Given the description of an element on the screen output the (x, y) to click on. 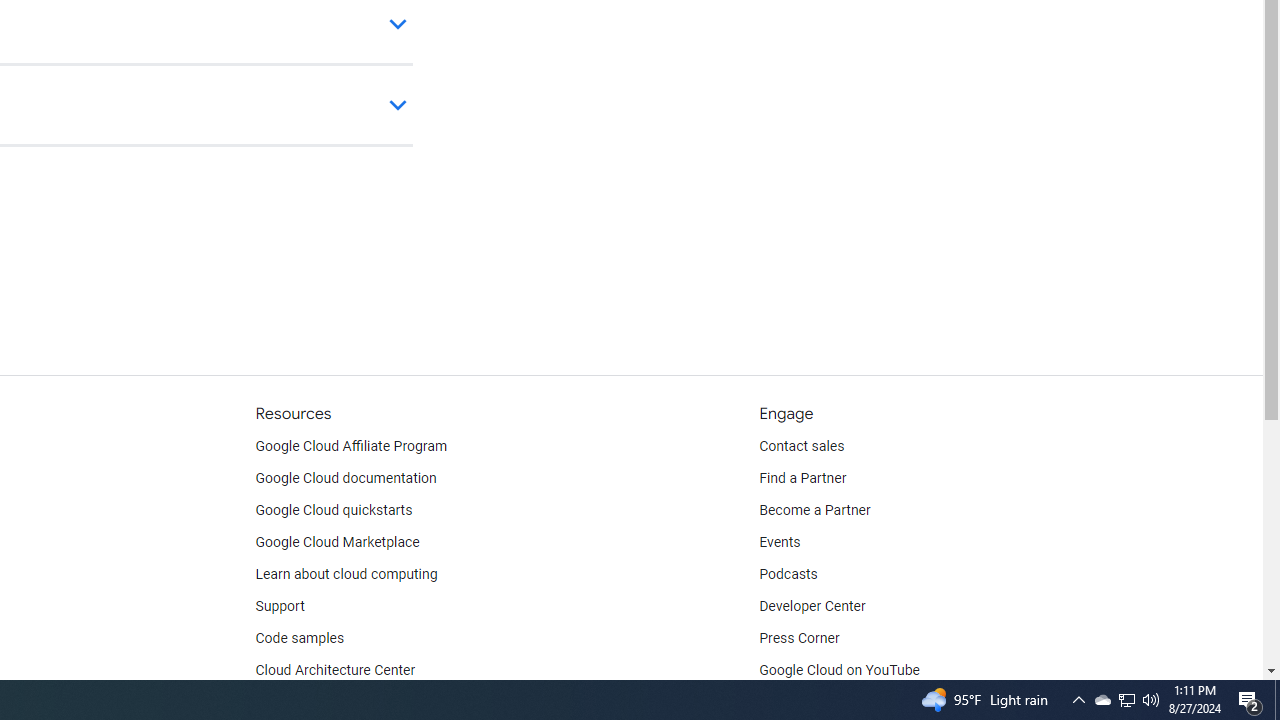
Google Cloud documentation (345, 478)
Learn about cloud computing (345, 574)
